Given the description of an element on the screen output the (x, y) to click on. 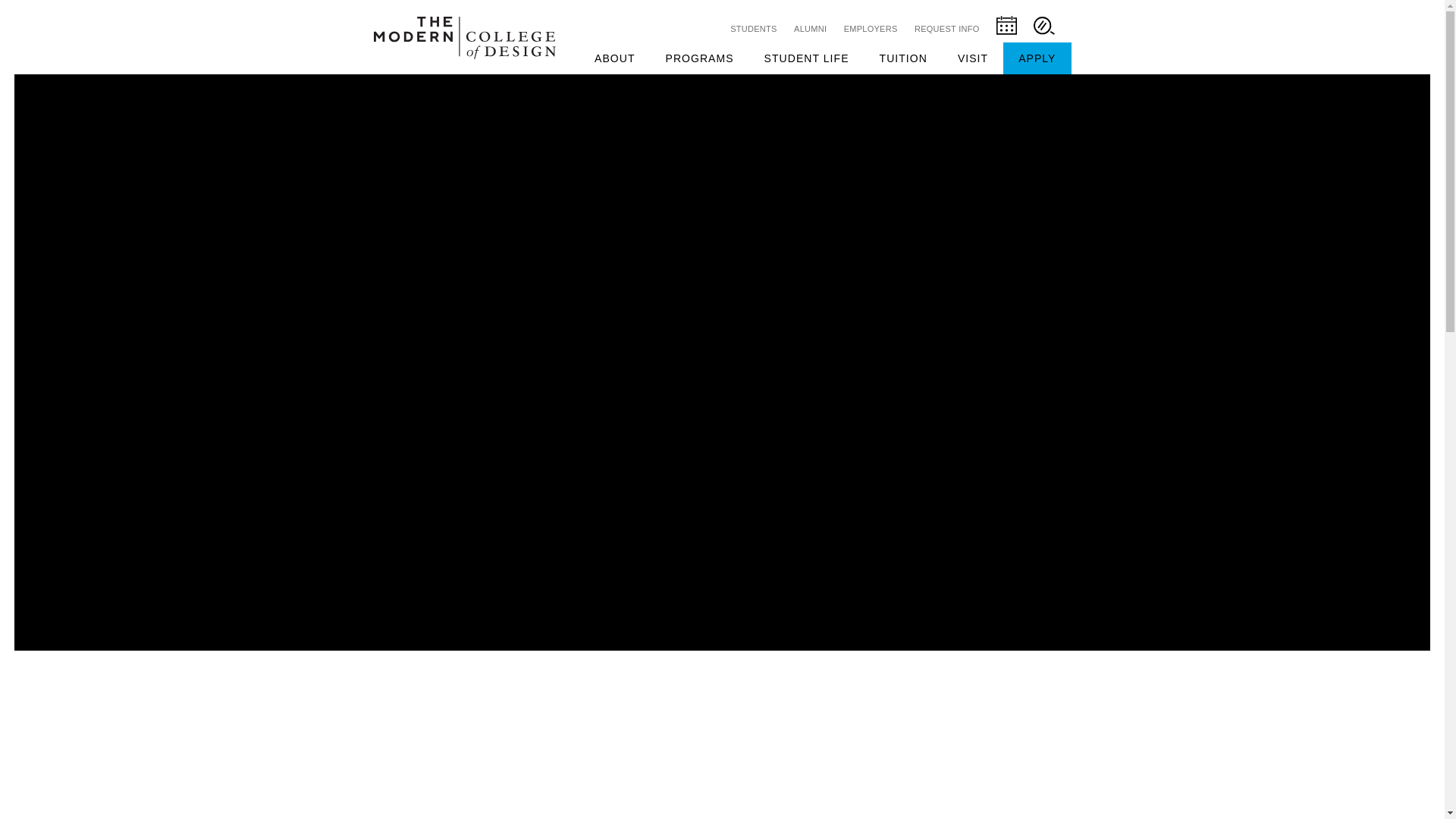
VISIT (972, 58)
APPLY (1036, 58)
STUDENTS (754, 28)
ABOUT (614, 58)
BLACK-CALENDAR-ICON (1006, 31)
REQUEST INFO (946, 28)
PROGRAMS (699, 58)
EMPLOYERS (869, 28)
BLACK-CALENDAR-ICON (1005, 25)
BLACK-SEARCH-ICON (1043, 31)
BLACK-SEARCH-ICON (1043, 25)
TUITION (903, 58)
STUDENT LIFE (806, 58)
ALUMNI (810, 28)
